Given the description of an element on the screen output the (x, y) to click on. 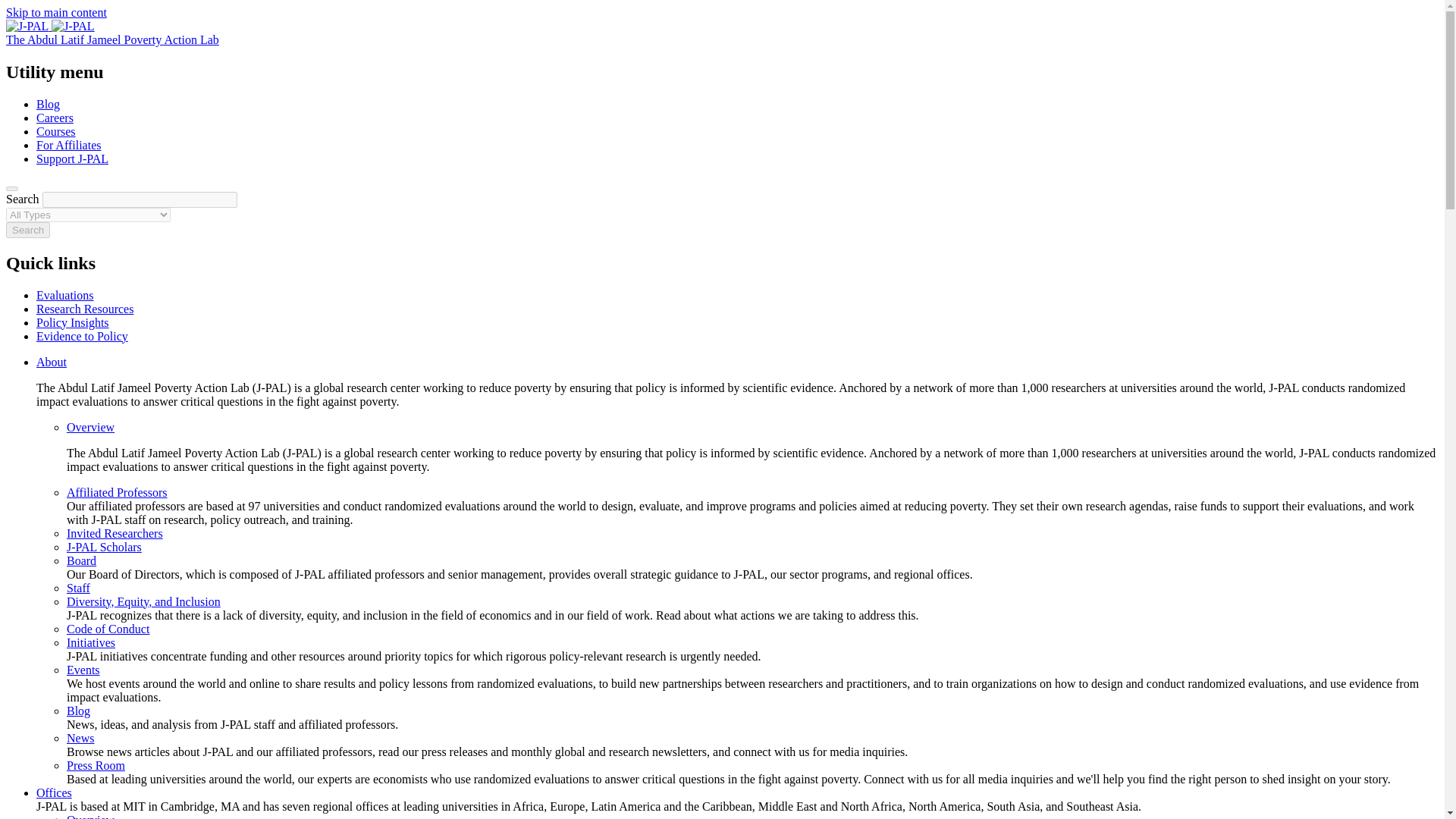
The Abdul Latif Jameel Poverty Action Lab (112, 39)
Home (112, 39)
Invited Researchers (114, 533)
J-PAL (49, 25)
Search (27, 229)
Code of Conduct for the J-PAL Community (107, 628)
Skip to main content (55, 11)
